Given the description of an element on the screen output the (x, y) to click on. 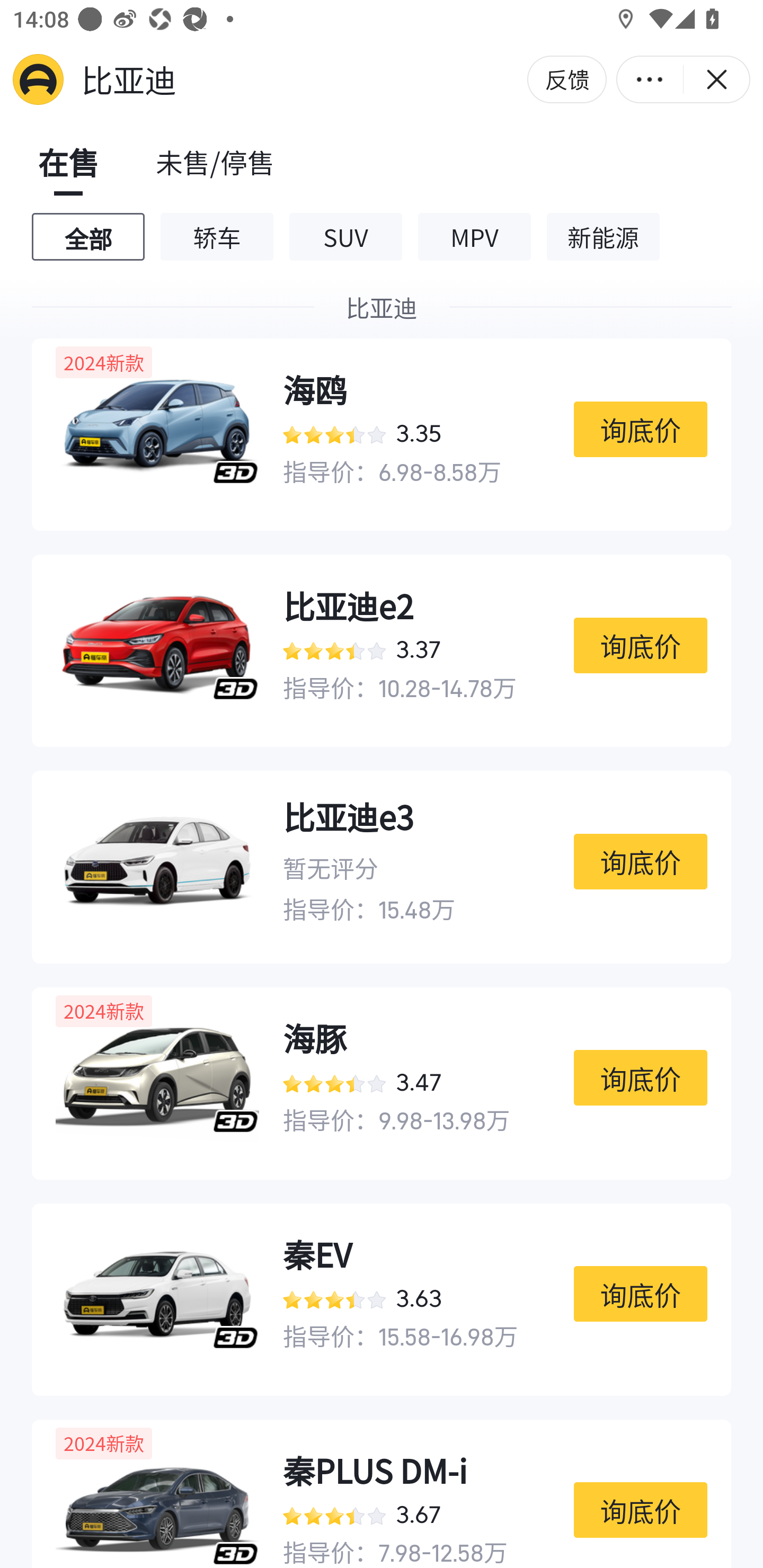
品牌logo (37, 79)
反馈 (566, 78)
更多 (649, 78)
关闭 (716, 78)
